Given the description of an element on the screen output the (x, y) to click on. 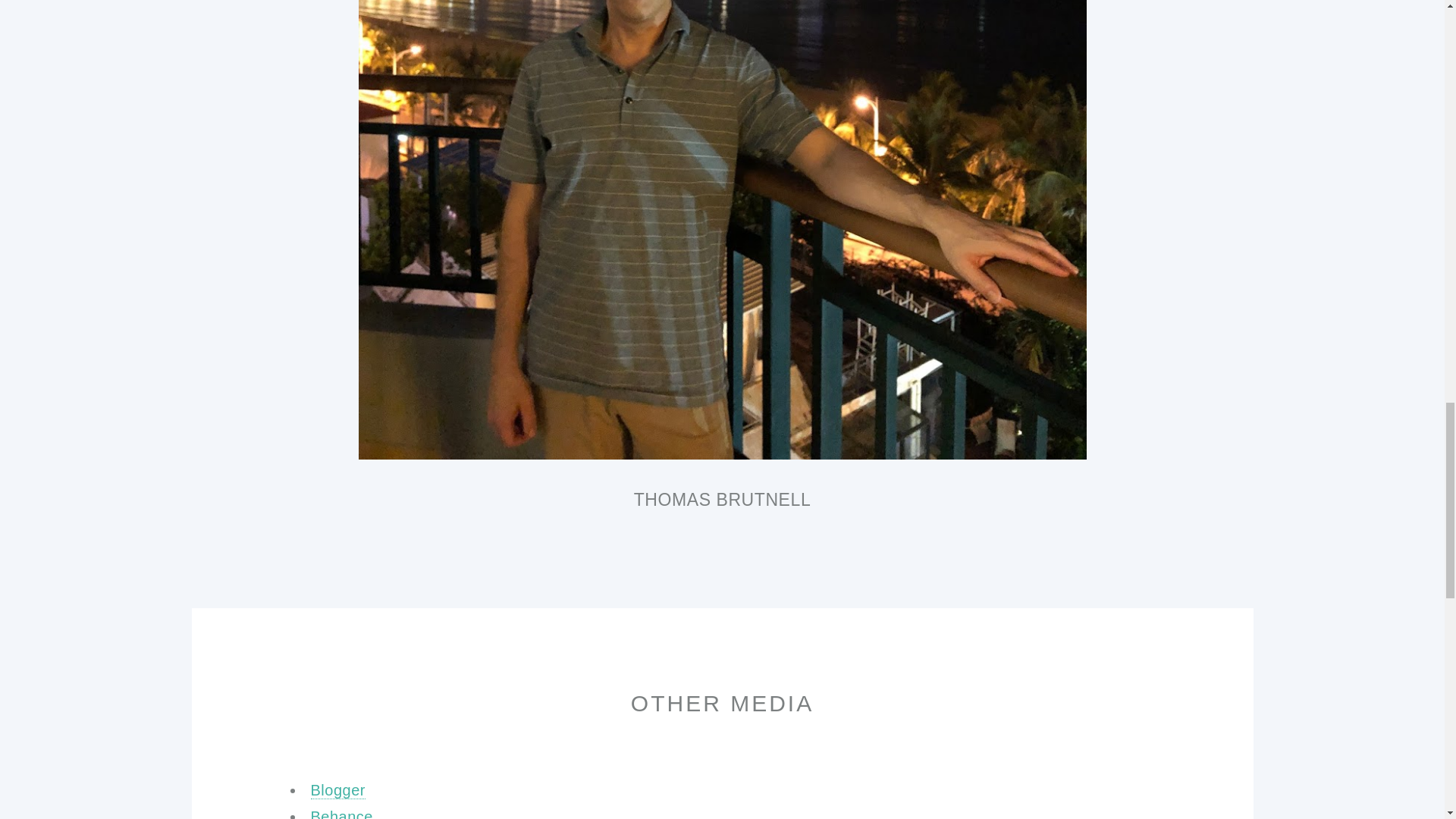
Behance (341, 813)
Blogger (338, 790)
Behance (341, 813)
Blogger (338, 790)
